Given the description of an element on the screen output the (x, y) to click on. 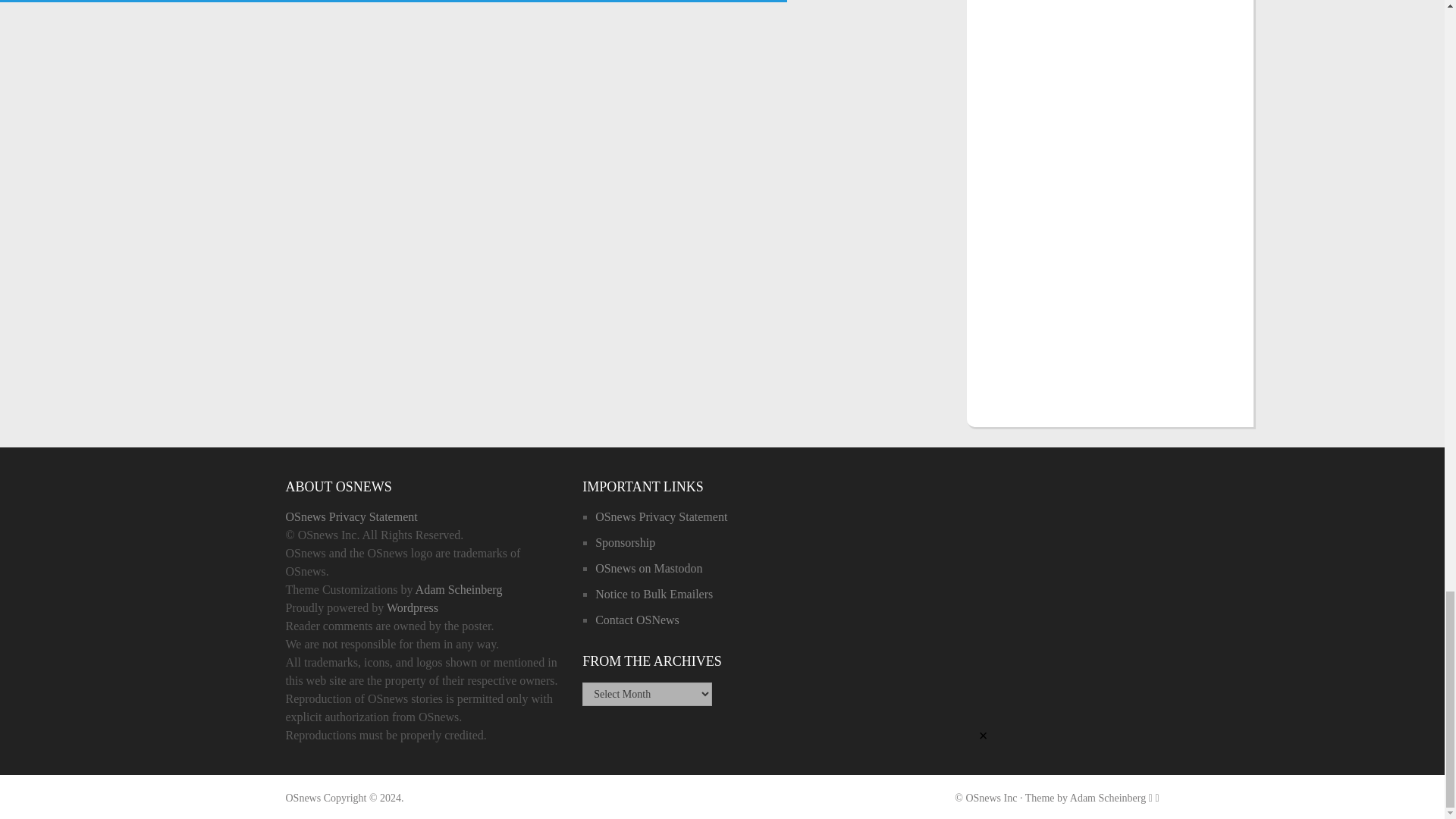
Exploring the Future of Computing (302, 797)
